Given the description of an element on the screen output the (x, y) to click on. 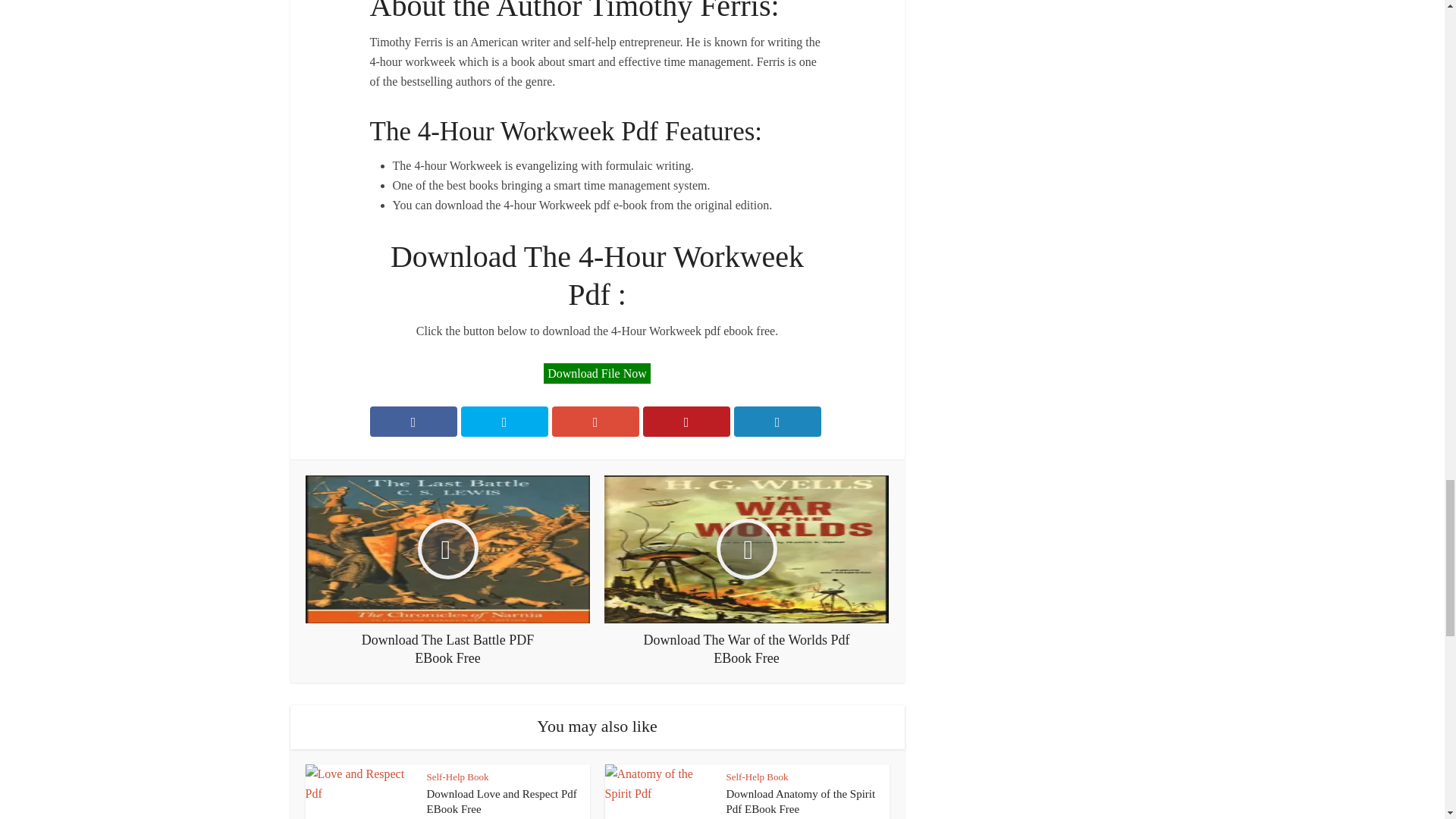
Download The Last Battle PDF EBook Free (447, 571)
Download Love and Respect Pdf EBook Free (501, 800)
Self-Help Book (757, 776)
Self-Help Book (456, 776)
Download File Now (596, 373)
Download Love and Respect Pdf EBook Free (501, 800)
Download The War of the Worlds Pdf EBook Free (746, 571)
Download Anatomy of the Spirit Pdf EBook Free (801, 800)
Download Anatomy of the Spirit Pdf EBook Free (801, 800)
